Given the description of an element on the screen output the (x, y) to click on. 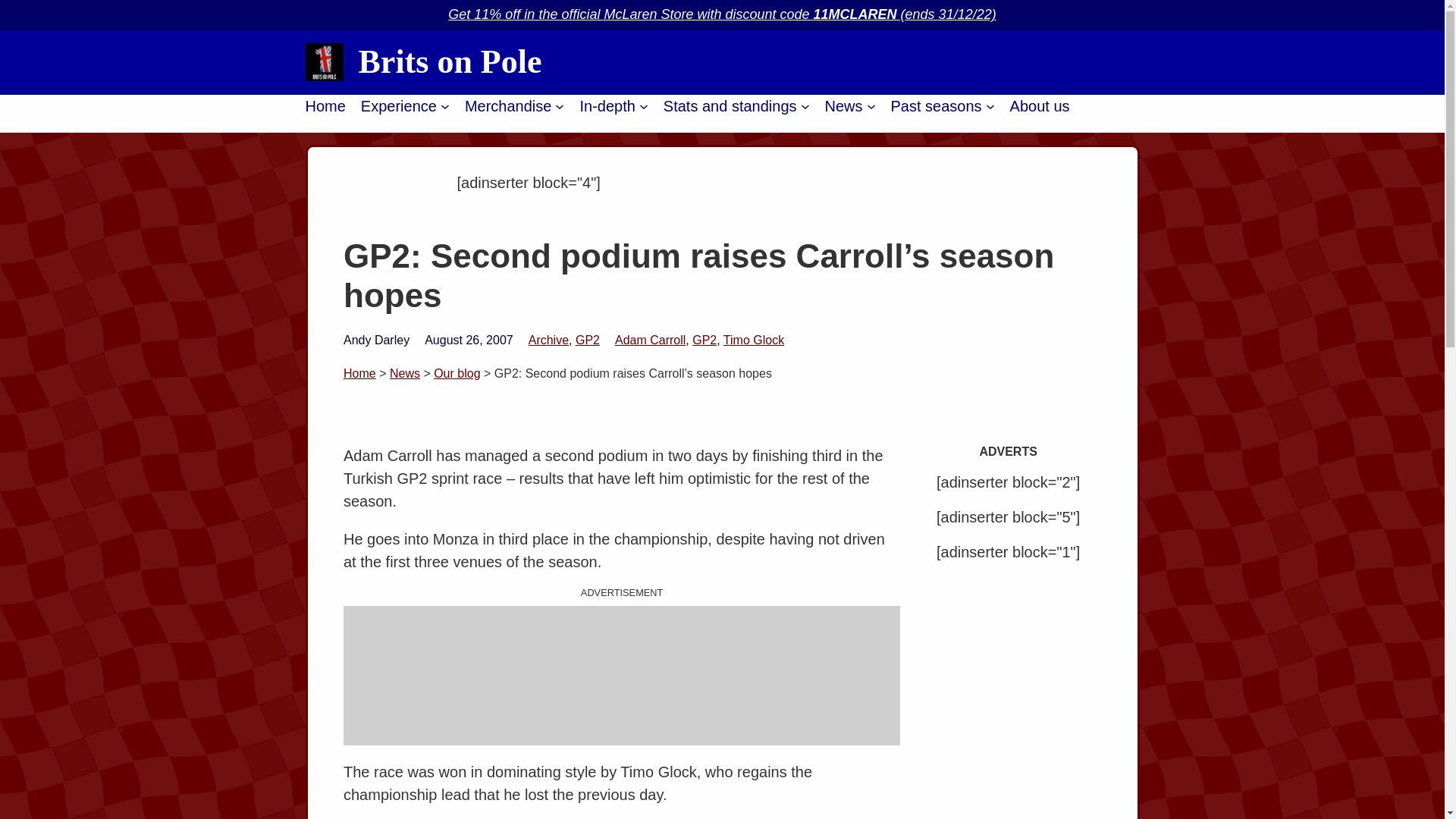
Go to News. (405, 373)
In-depth (606, 106)
Go to Brits on Pole. (359, 373)
Merchandise (507, 106)
Brits on Pole (449, 61)
Go to Our blog. (456, 373)
Home (324, 106)
Advertisement (621, 675)
Experience (398, 106)
